Given the description of an element on the screen output the (x, y) to click on. 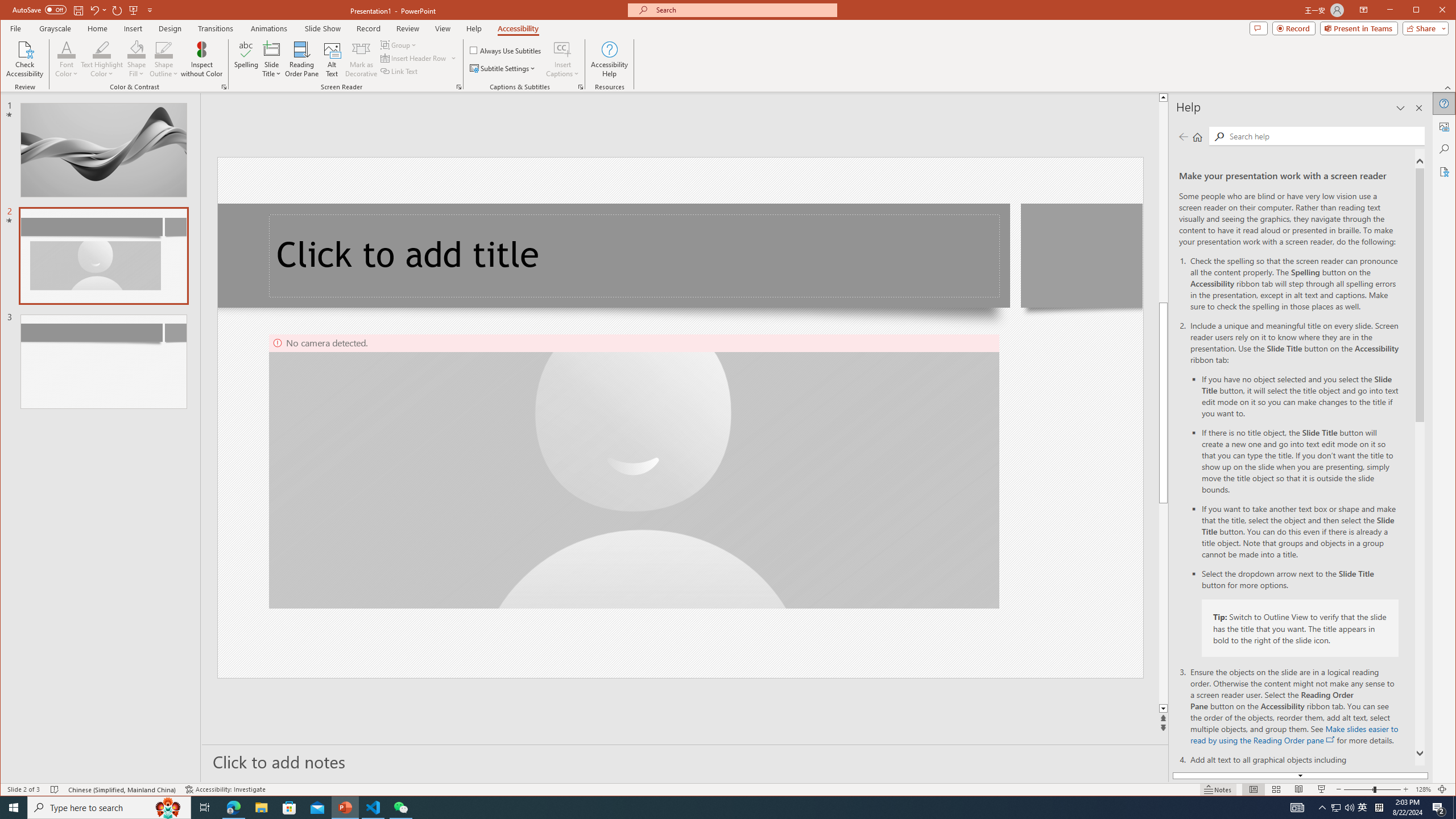
Tray Input Indicator - Chinese (Simplified, China) (1378, 807)
Accessibility (1444, 171)
Group (399, 44)
Line down (1162, 709)
Accessibility Help (608, 59)
Slide Notes (685, 761)
Search (1444, 148)
